Given the description of an element on the screen output the (x, y) to click on. 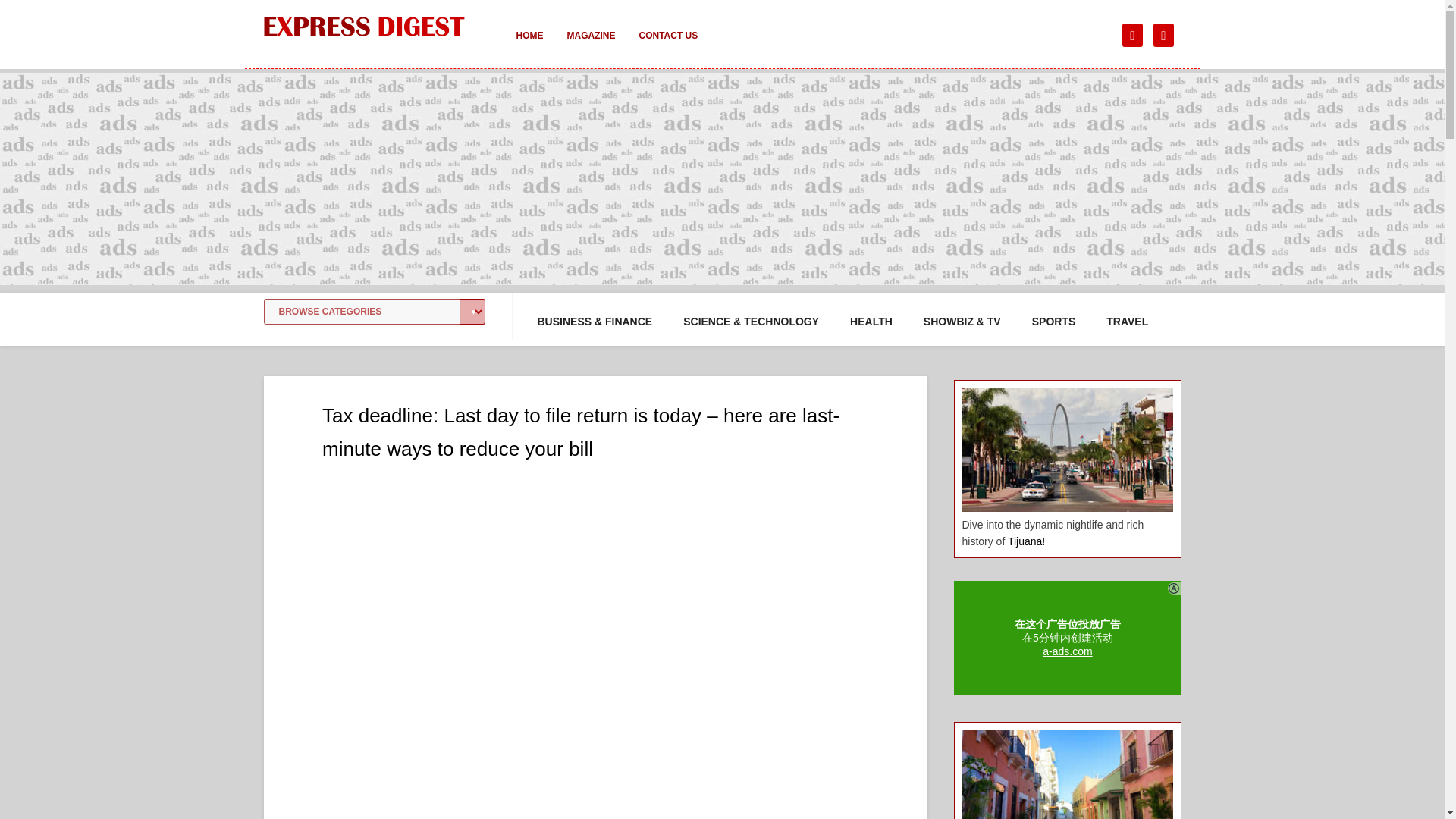
MAGAZINE (590, 45)
SPORTS (1053, 321)
TRAVEL (1127, 321)
HEALTH (871, 321)
Tijuana! (1026, 541)
CONTACT US (667, 45)
